Given the description of an element on the screen output the (x, y) to click on. 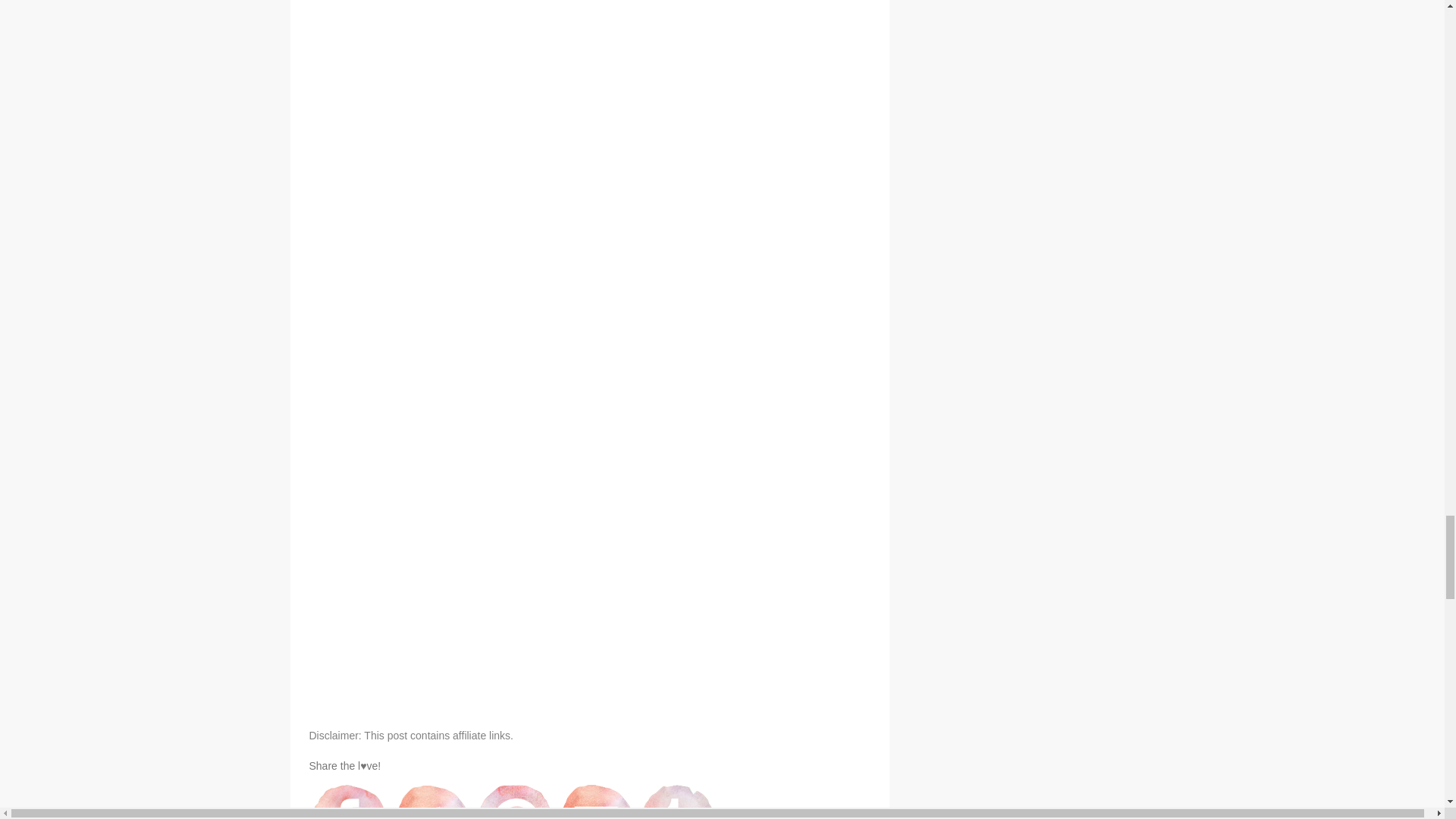
Twitter (432, 801)
Tumblr (678, 801)
Email (595, 801)
Facebook (349, 801)
Pinterest (513, 801)
